Given the description of an element on the screen output the (x, y) to click on. 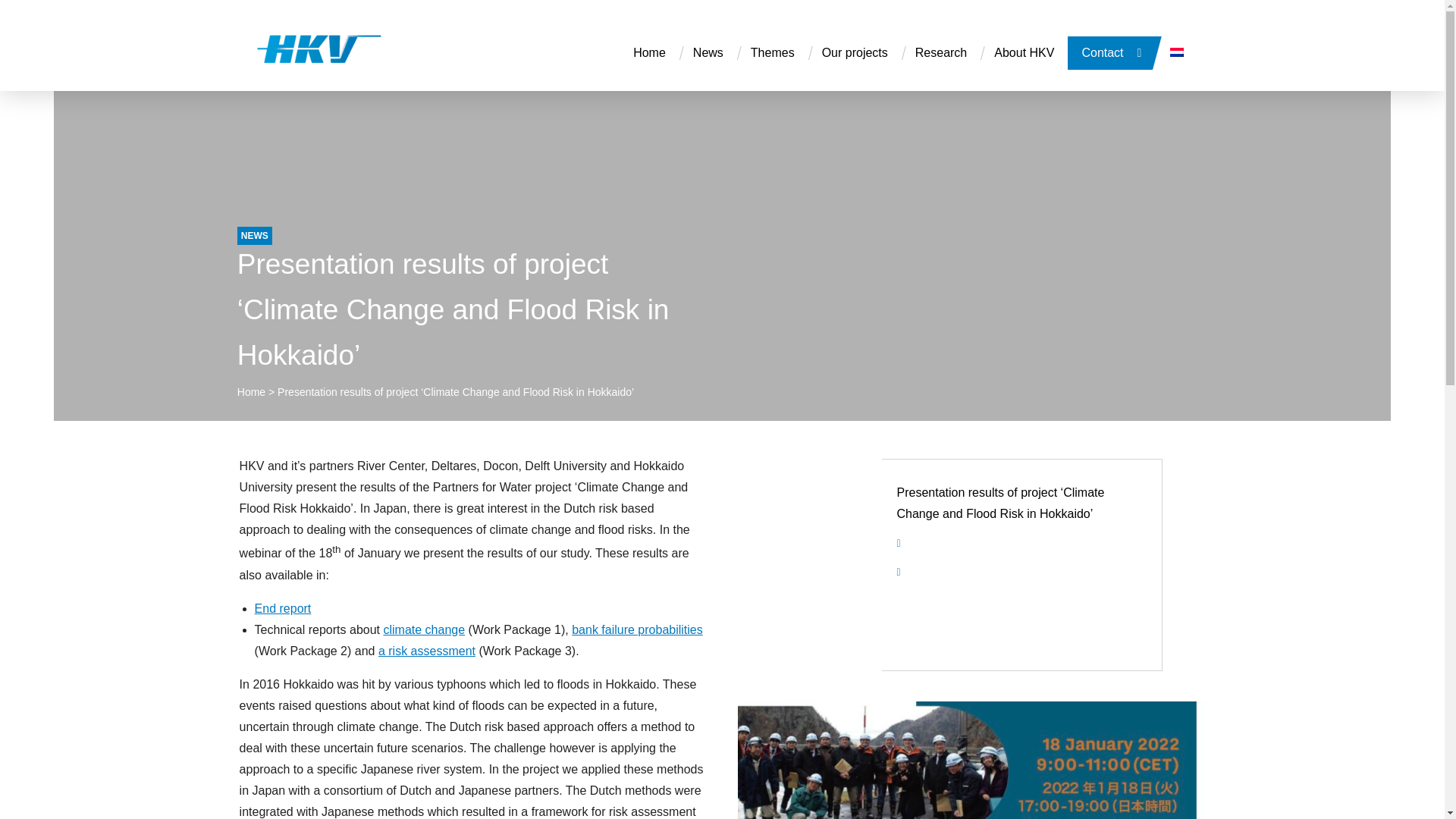
bank failure probabilities (637, 629)
Research (940, 52)
End report (282, 608)
About HKV (1023, 52)
climate change (423, 629)
Our projects (854, 52)
News (707, 52)
a risk assessment (427, 650)
Home (250, 391)
Themes (772, 52)
home (304, 55)
Home (649, 52)
Contact (1102, 52)
